Given the description of an element on the screen output the (x, y) to click on. 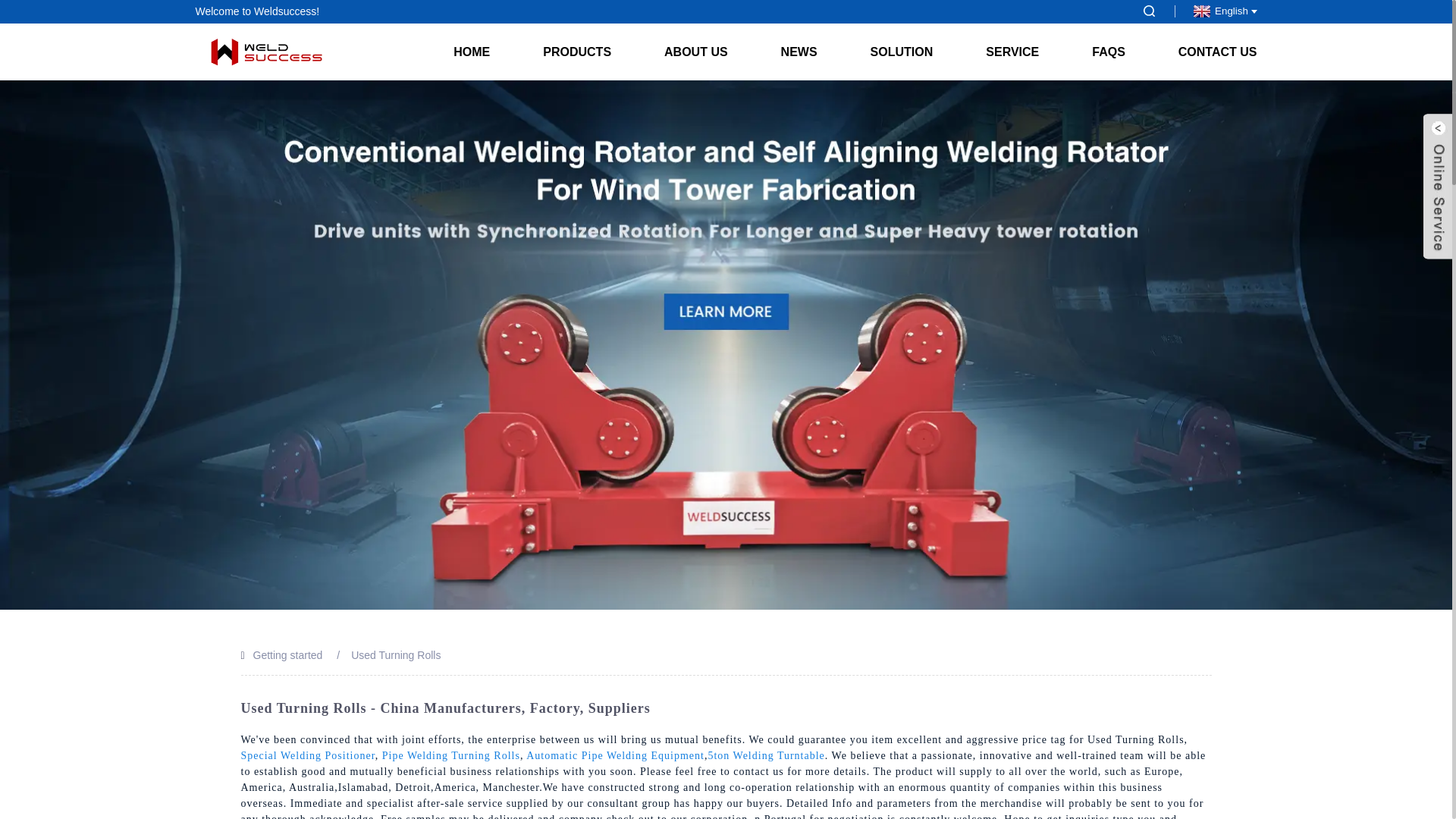
English (1222, 10)
Automatic Pipe Welding Equipment (614, 755)
SERVICE (1012, 51)
Getting started (288, 654)
Special Welding Positioner (308, 755)
Pipe Welding Turning Rolls (450, 755)
5ton Welding Turntable (765, 755)
FAQS (1108, 51)
Used Turning Rolls (395, 654)
CONTACT US (1204, 51)
